Given the description of an element on the screen output the (x, y) to click on. 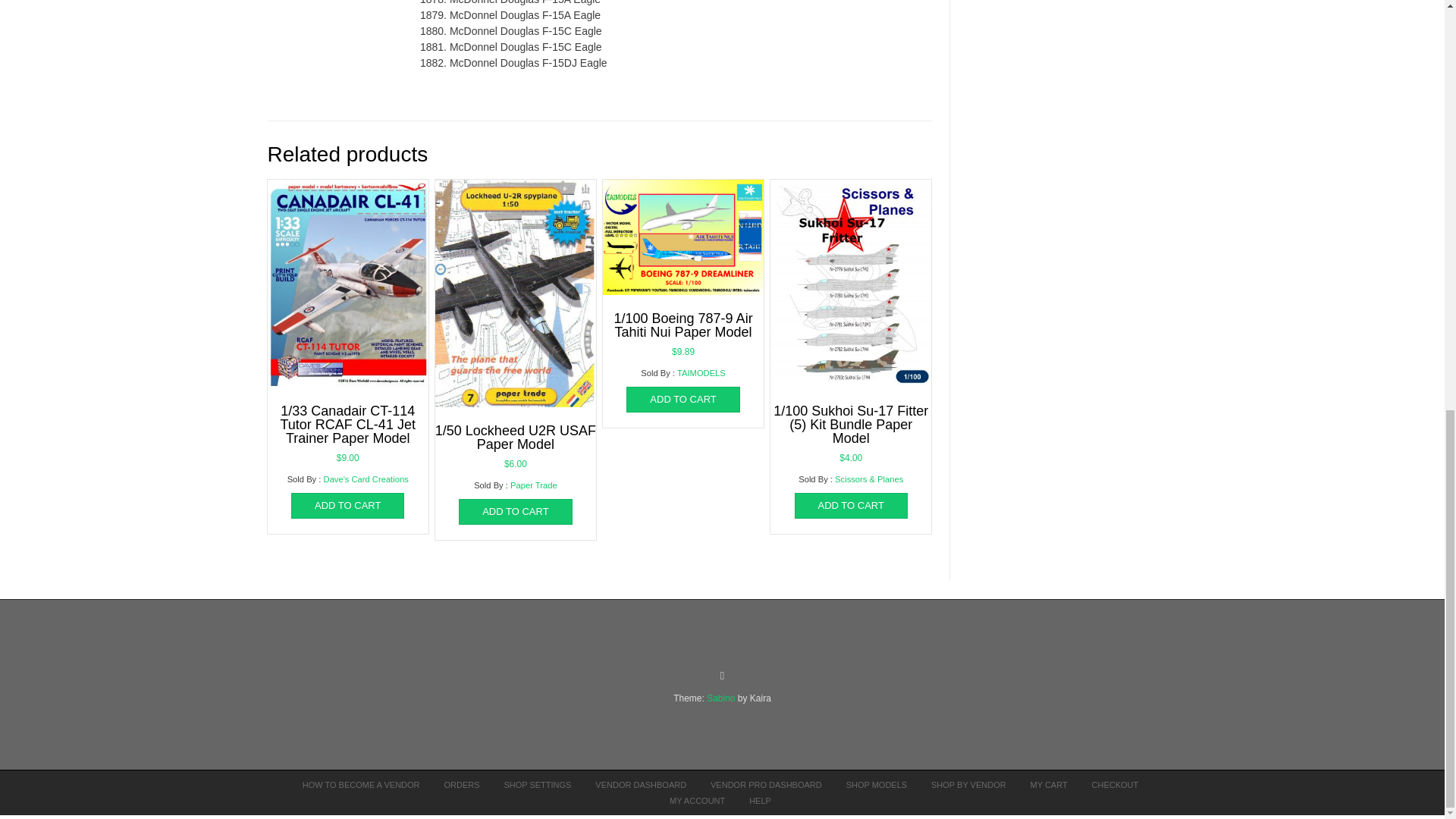
ADD TO CART (515, 511)
Paper Trade (534, 484)
TAIMODELS (701, 372)
ADD TO CART (850, 505)
ADD TO CART (682, 399)
Dave's Card Creations (366, 479)
ADD TO CART (347, 505)
